Given the description of an element on the screen output the (x, y) to click on. 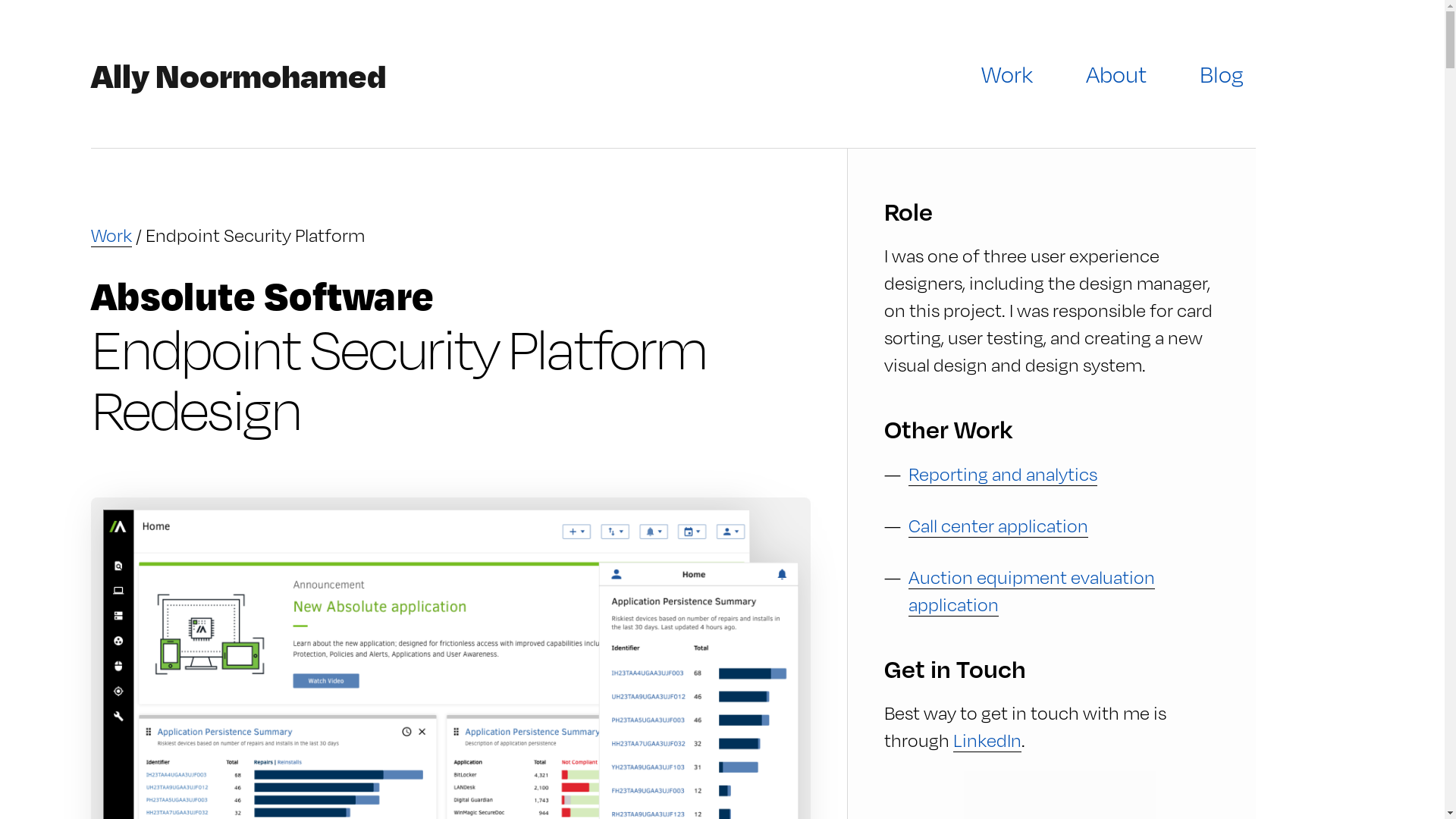
Work Element type: text (1006, 74)
About Element type: text (1115, 74)
Call center application Element type: text (998, 524)
Auction equipment evaluation application Element type: text (1031, 590)
Work Element type: text (111, 234)
LinkedIn Element type: text (987, 739)
Reporting and analytics Element type: text (1002, 473)
Blog Element type: text (1221, 74)
